Given the description of an element on the screen output the (x, y) to click on. 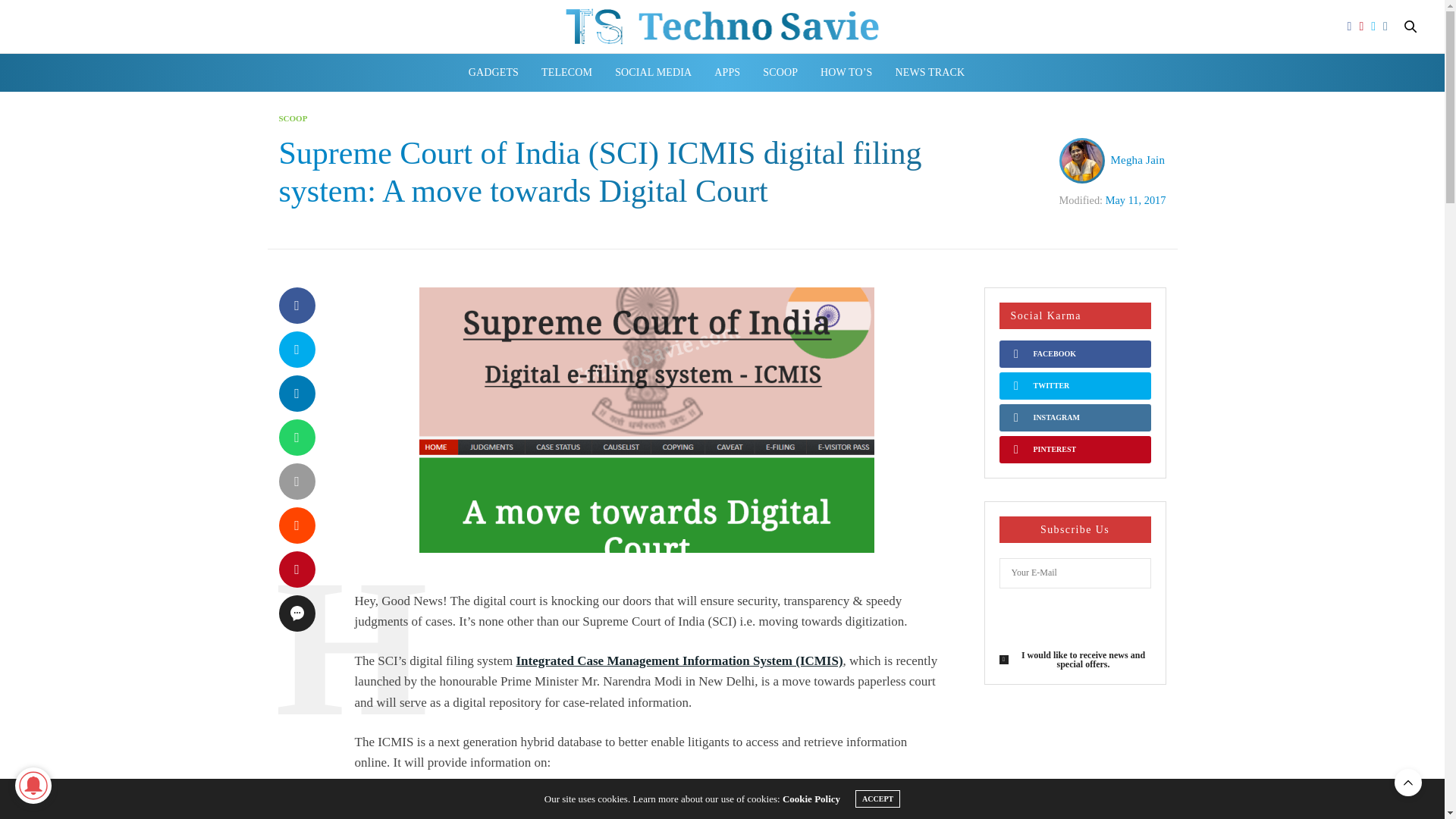
Techno Savie (721, 26)
Gadgets (493, 72)
Megha Jain (1138, 159)
SOCIAL MEDIA (652, 72)
SCOOP (293, 118)
TELECOM (566, 72)
Telecom (566, 72)
Social Media (652, 72)
GADGETS (493, 72)
NEWS TRACK (930, 72)
SCOOP (779, 72)
